Given the description of an element on the screen output the (x, y) to click on. 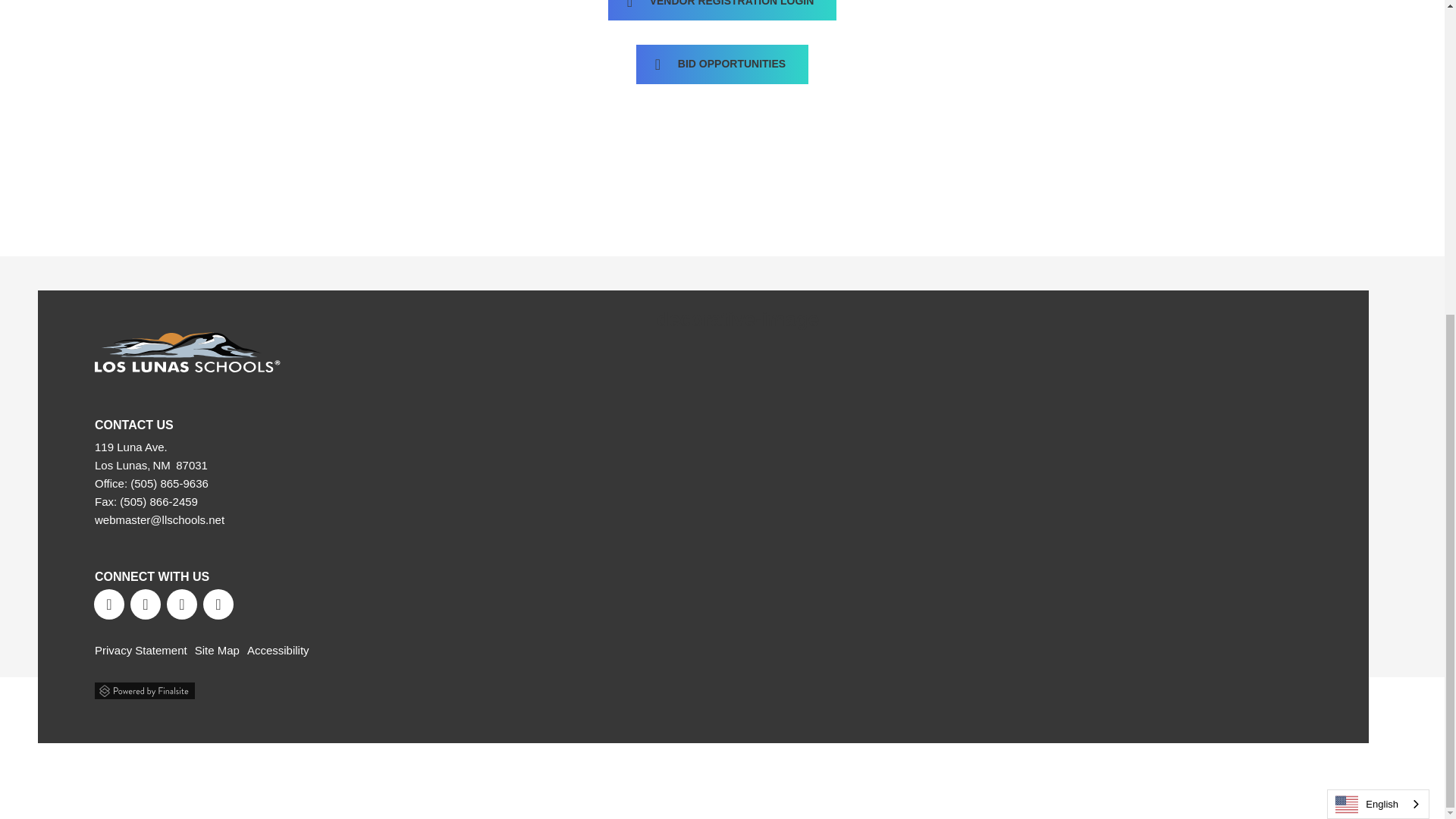
Email (159, 519)
Powered by Finalsite opens in a new window (144, 687)
link to Vendor Registration website (722, 3)
link to Vendor Registry website (721, 62)
